Given the description of an element on the screen output the (x, y) to click on. 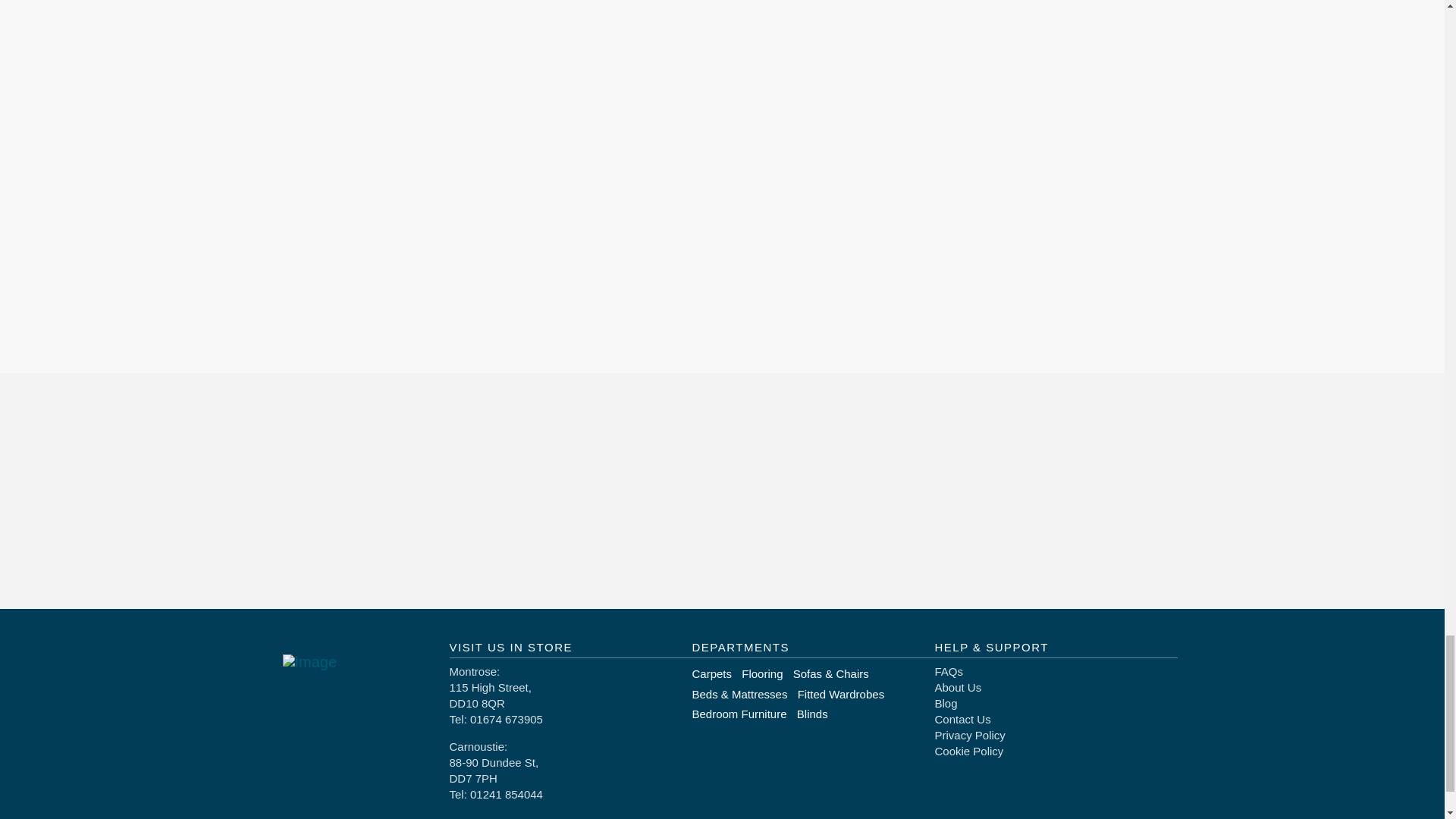
Bedroom Furniture (743, 713)
FAQs (948, 671)
Blog (945, 703)
01674 673905 (506, 718)
01241 854044 (506, 793)
Carpets (716, 673)
Fitted Wardrobes (846, 693)
Flooring (766, 673)
About Us (957, 686)
Blinds (817, 713)
